Given the description of an element on the screen output the (x, y) to click on. 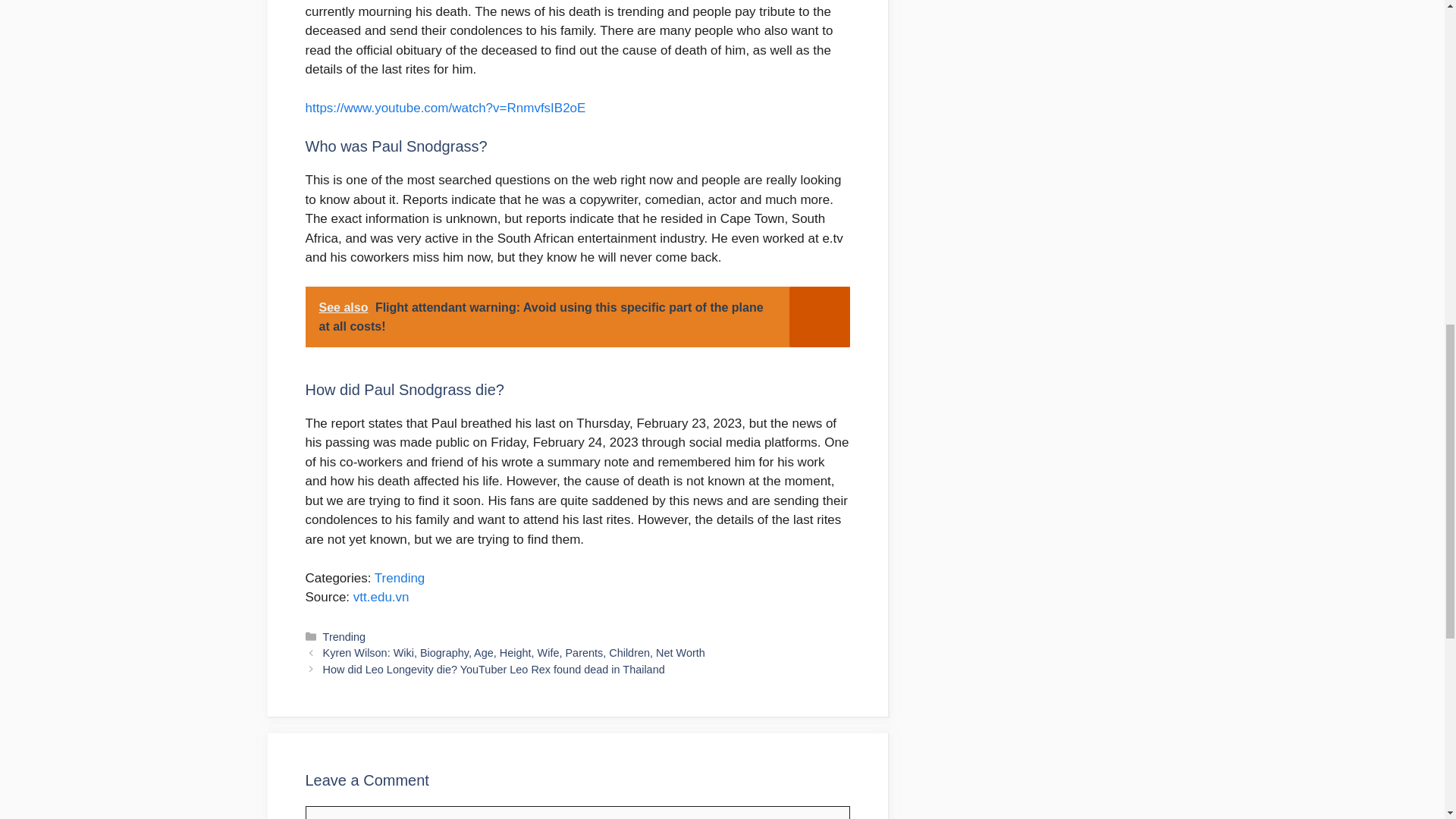
vtt.edu.vn (381, 596)
Trending (344, 636)
Trending (399, 577)
